Given the description of an element on the screen output the (x, y) to click on. 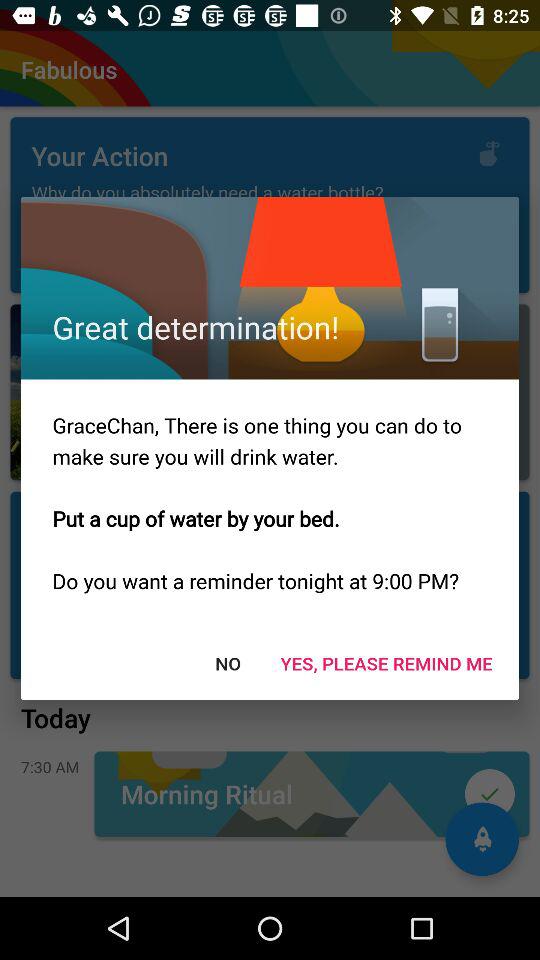
flip until the yes please remind (386, 662)
